Given the description of an element on the screen output the (x, y) to click on. 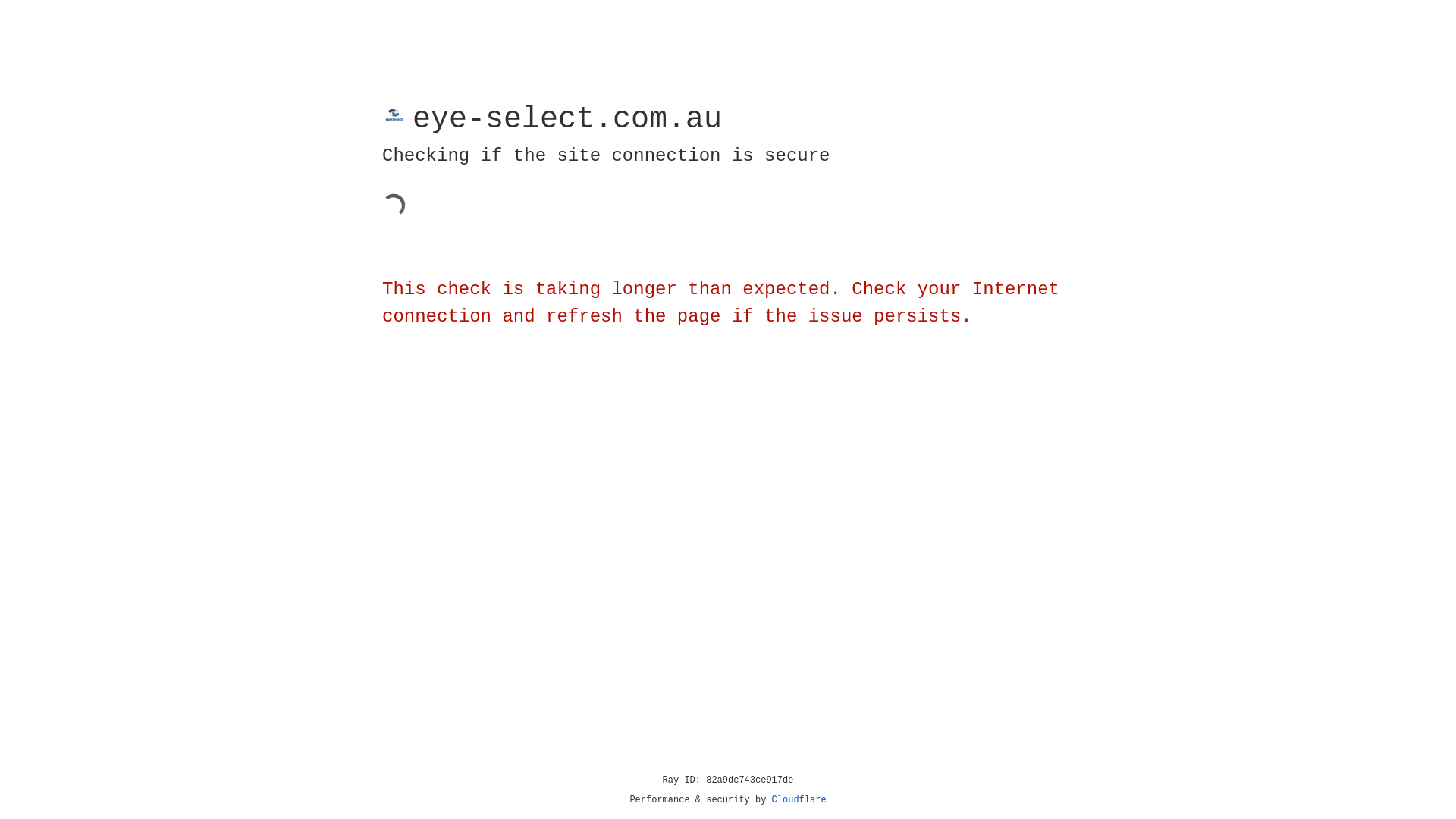
Cloudflare Element type: text (798, 799)
